Given the description of an element on the screen output the (x, y) to click on. 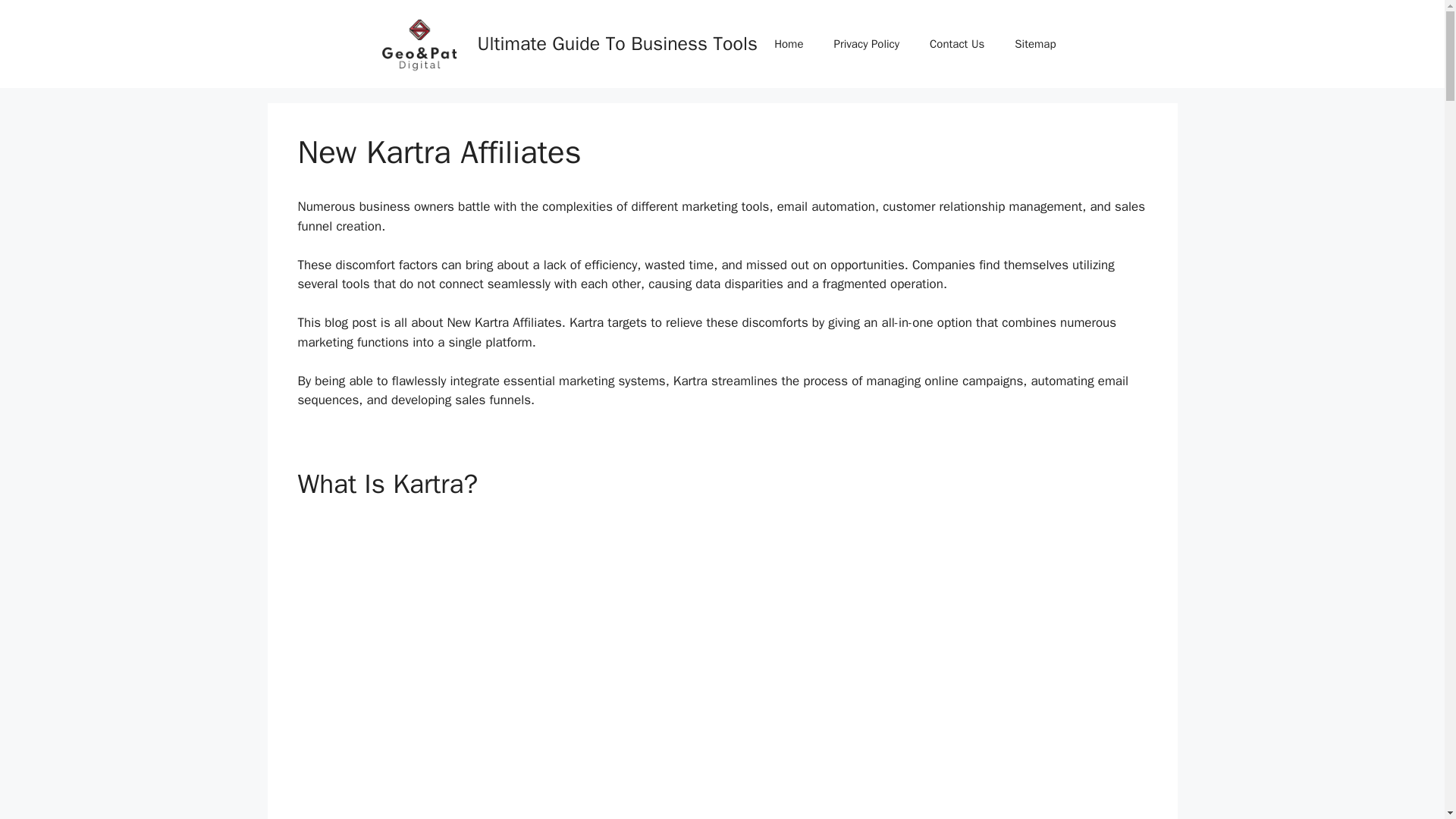
Contact Us (956, 43)
Privacy Policy (866, 43)
Home (788, 43)
Ultimate Guide To Business Tools (617, 43)
Sitemap (1034, 43)
